Given the description of an element on the screen output the (x, y) to click on. 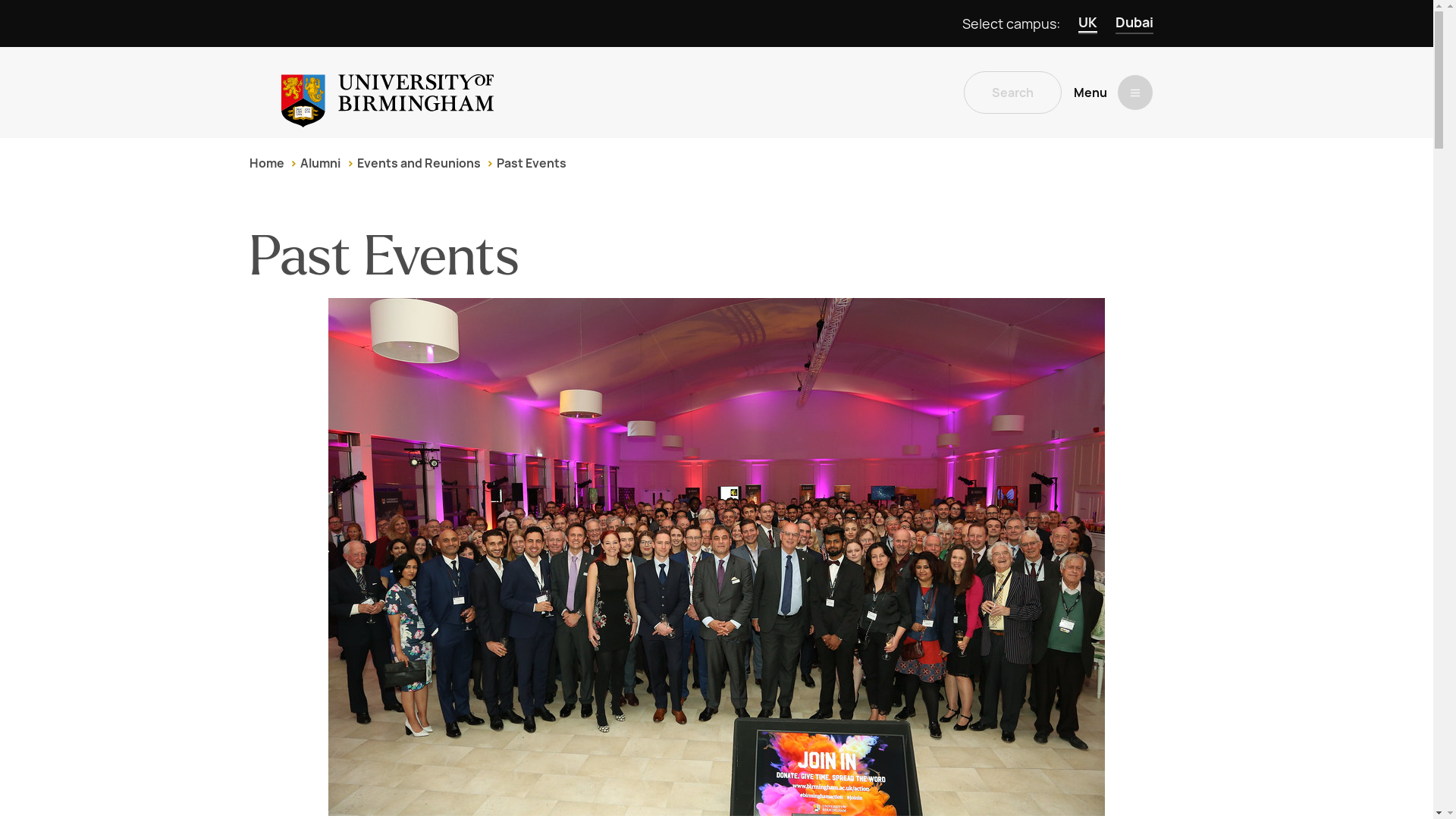
UK (1087, 23)
Alumni (319, 162)
Dubai (1134, 23)
Home (265, 162)
Past Events (531, 162)
Events and Reunions (418, 162)
Search (1012, 92)
